Given the description of an element on the screen output the (x, y) to click on. 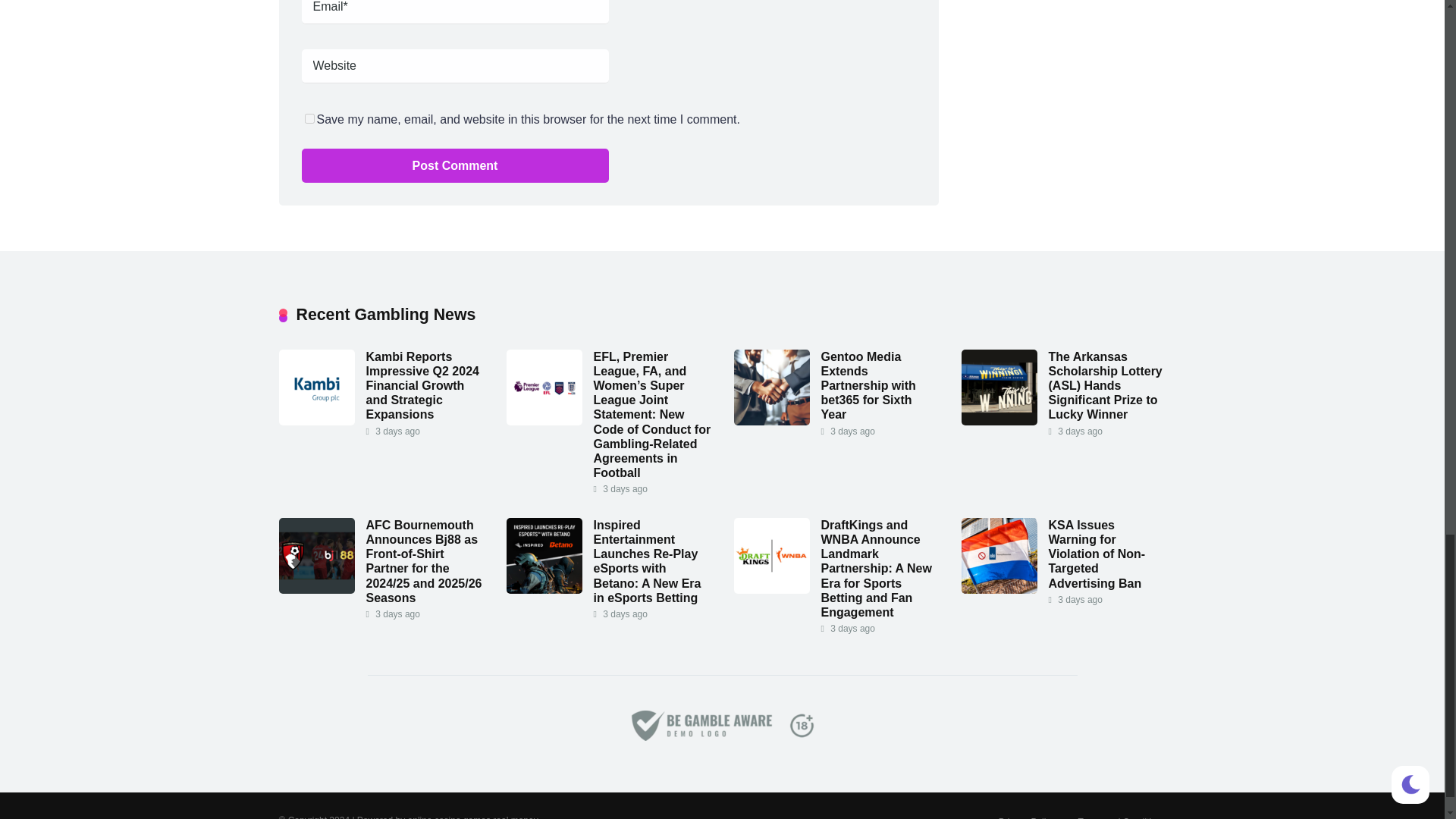
Post Comment (454, 165)
Post Comment (454, 165)
yes (309, 118)
